Given the description of an element on the screen output the (x, y) to click on. 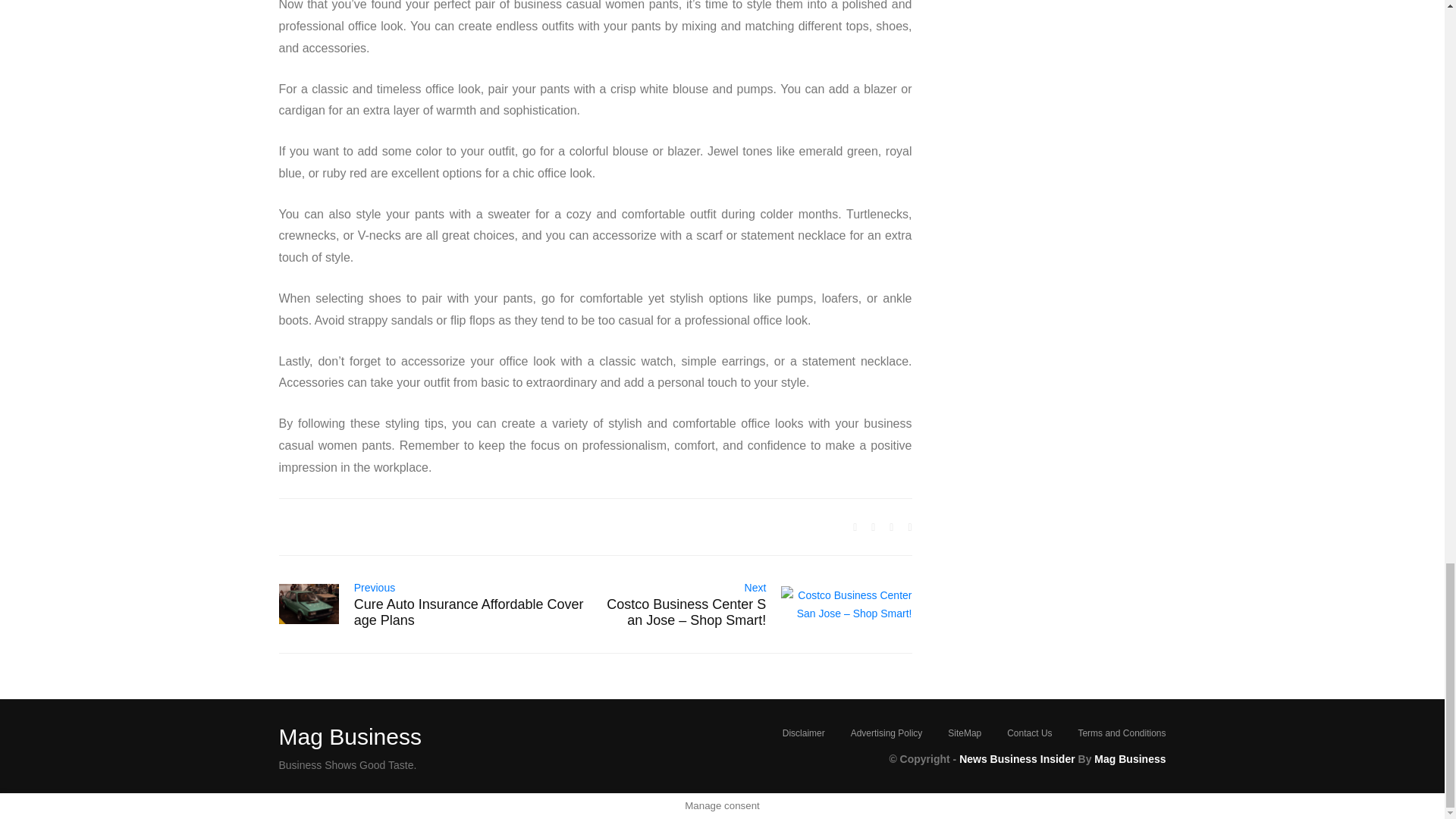
SiteMap (964, 732)
Contact Us (1029, 732)
Advertising Policy (886, 732)
Cure Auto Insurance Affordable Coverage Plans (309, 603)
News Business Insider (1017, 759)
Cure Auto Insurance Affordable Coverage Plans (468, 612)
Disclaimer (804, 732)
Terms and Conditions (1121, 732)
Previous (373, 587)
Next (755, 587)
